Given the description of an element on the screen output the (x, y) to click on. 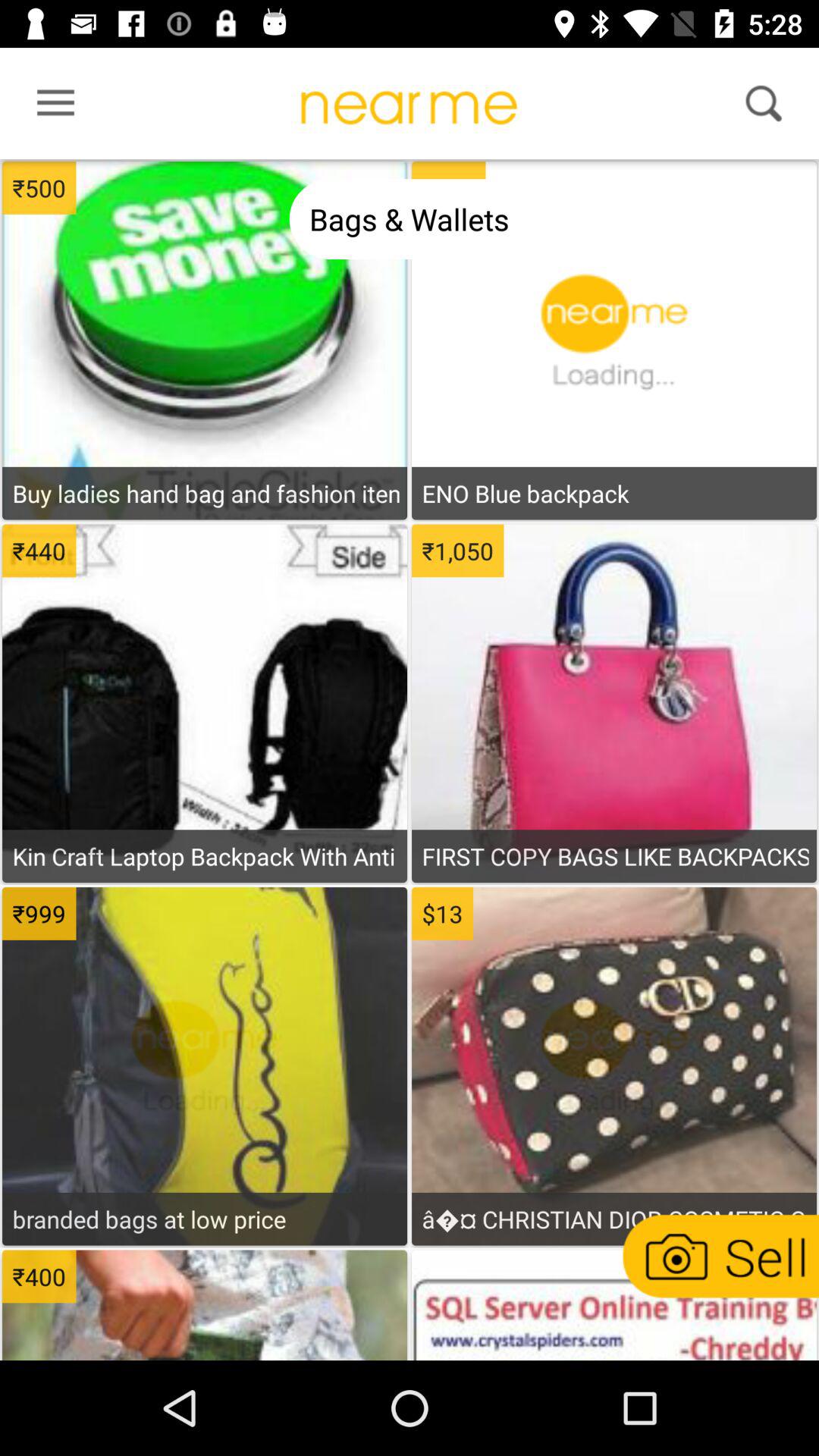
select item (205, 1307)
